Given the description of an element on the screen output the (x, y) to click on. 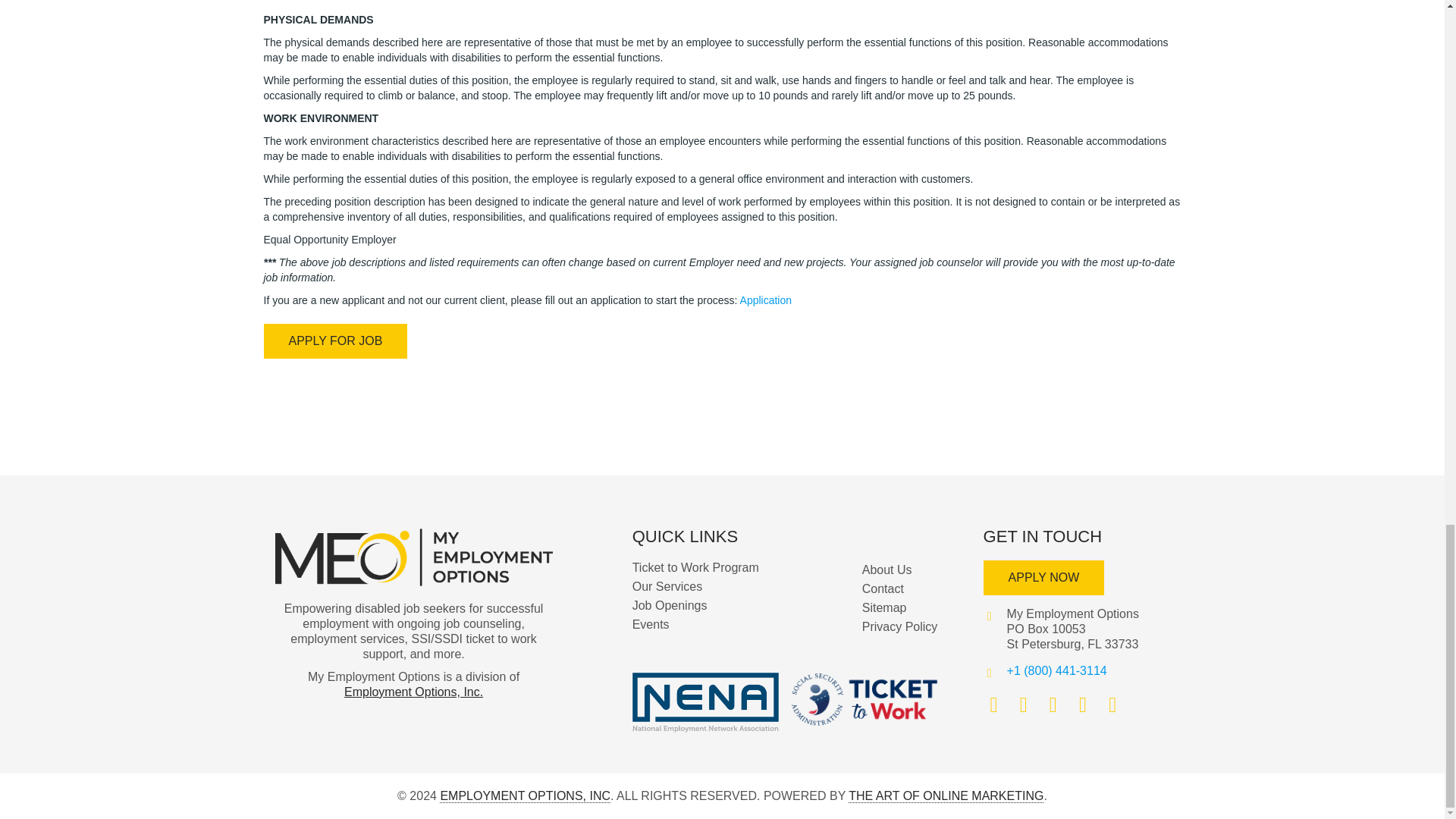
Apply for job (335, 340)
